Given the description of an element on the screen output the (x, y) to click on. 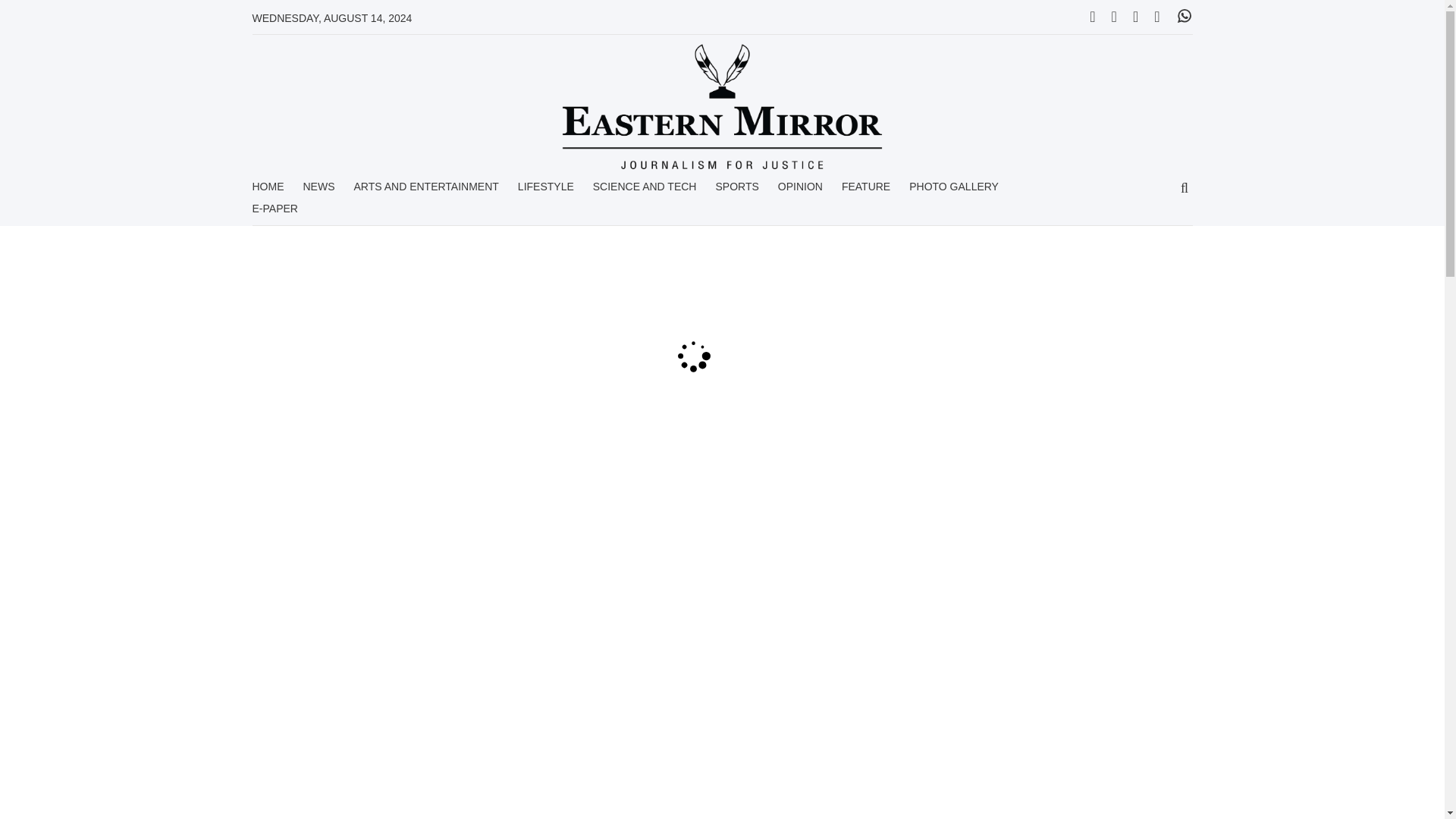
GO (1184, 188)
NEWS (318, 191)
GO (1184, 188)
Eastern Mirror (722, 106)
HOME (267, 191)
LIFESTYLE (545, 191)
ARTS AND ENTERTAINMENT (425, 191)
